Given the description of an element on the screen output the (x, y) to click on. 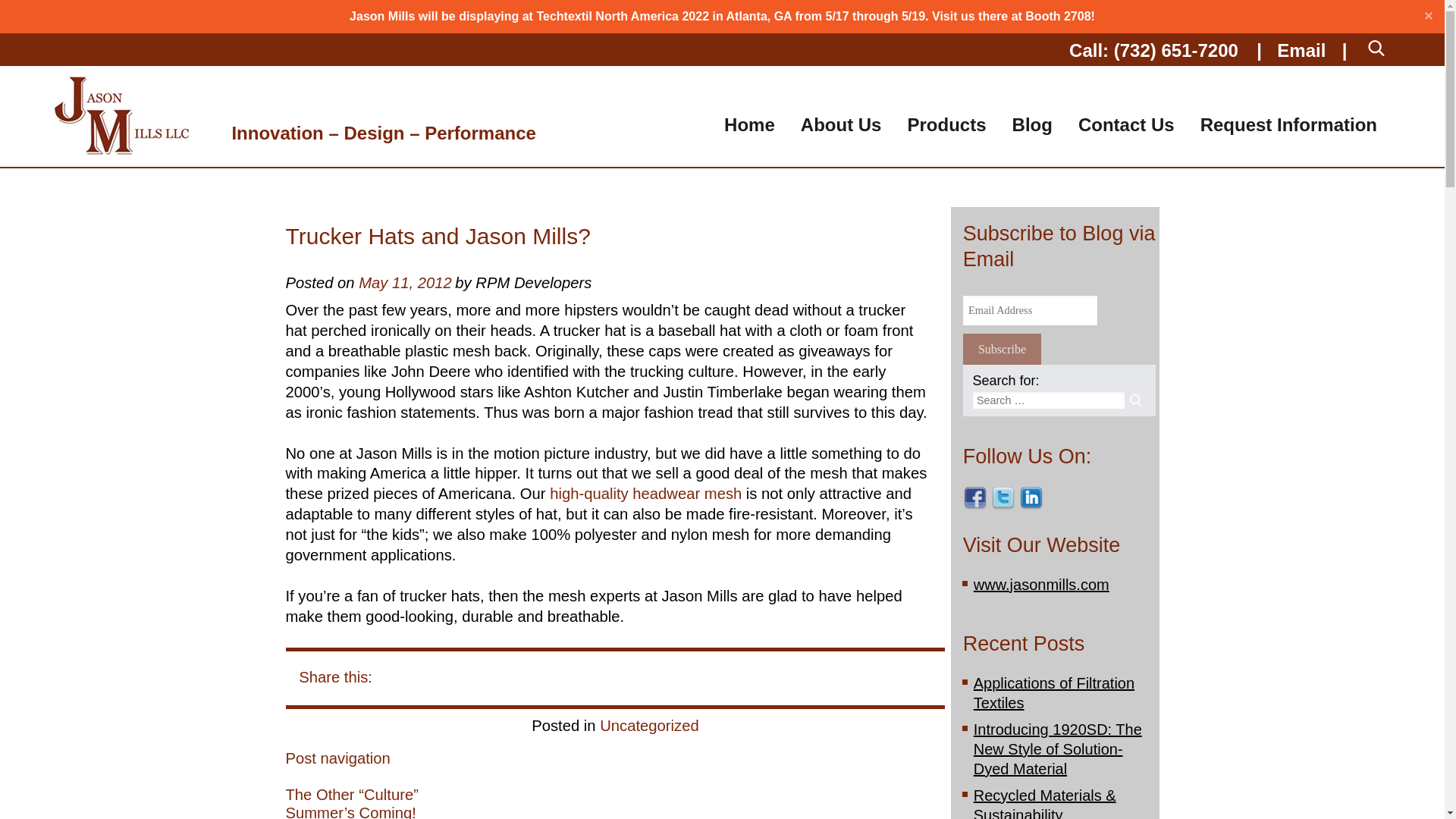
Linkedin (1031, 498)
Blog (1031, 136)
Jason Mills, LLC (122, 115)
Email (1300, 50)
Search Website... (687, 12)
Facebook (974, 498)
Home (749, 137)
Search (1134, 399)
Twitter (1002, 498)
Email (1300, 50)
Call (1176, 50)
Request Information (1289, 137)
Products (945, 136)
Search (1115, 12)
Subscribe (1001, 348)
